Given the description of an element on the screen output the (x, y) to click on. 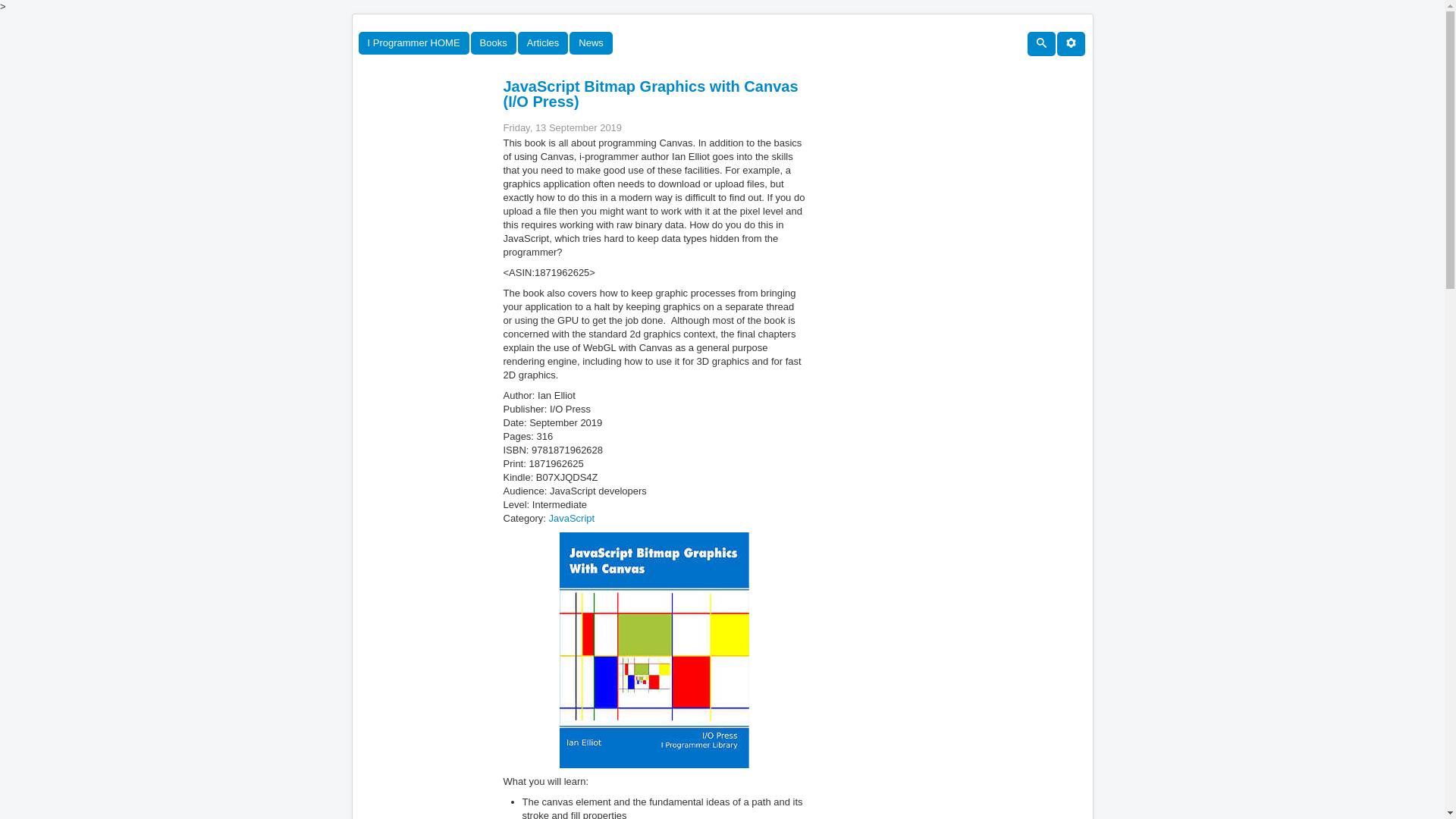
Articles (543, 42)
I Programmer HOME (413, 42)
Books (493, 42)
